Given the description of an element on the screen output the (x, y) to click on. 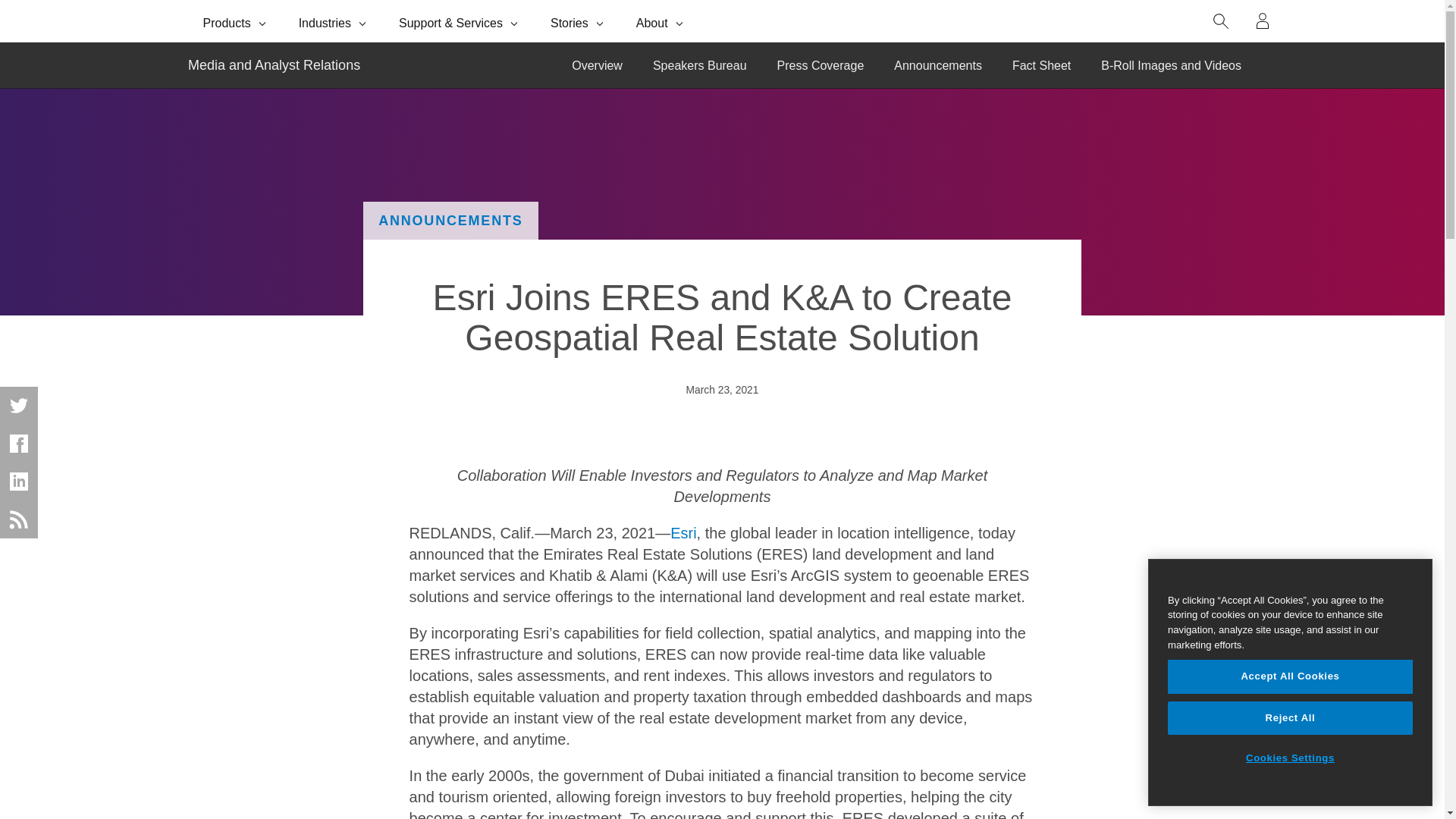
Industries (333, 20)
Search (1220, 20)
Products (235, 20)
Sign In (1262, 20)
